Given the description of an element on the screen output the (x, y) to click on. 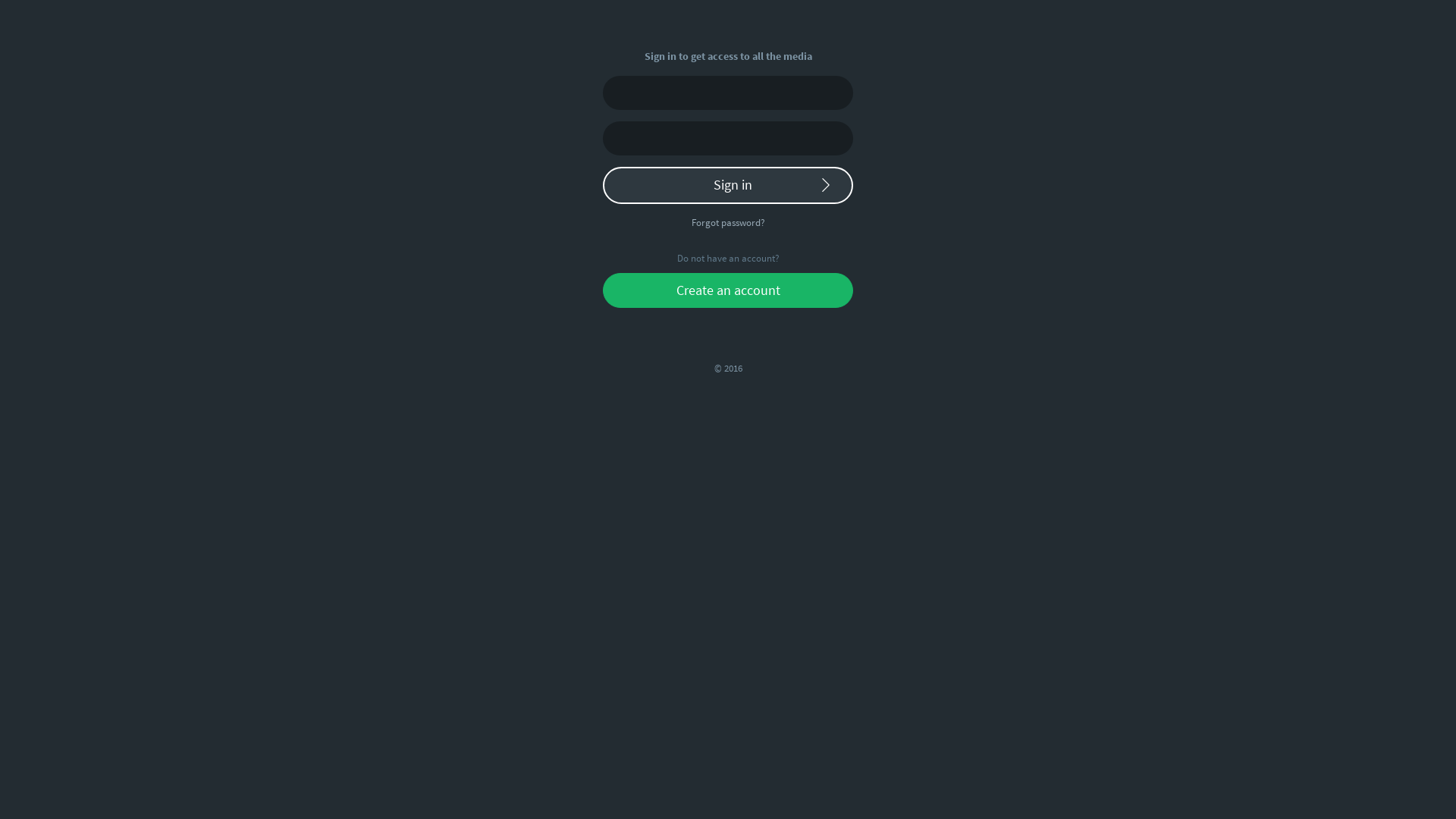
Sign in Element type: text (727, 185)
Forgot password? Element type: text (728, 222)
Create an account Element type: text (727, 290)
